Given the description of an element on the screen output the (x, y) to click on. 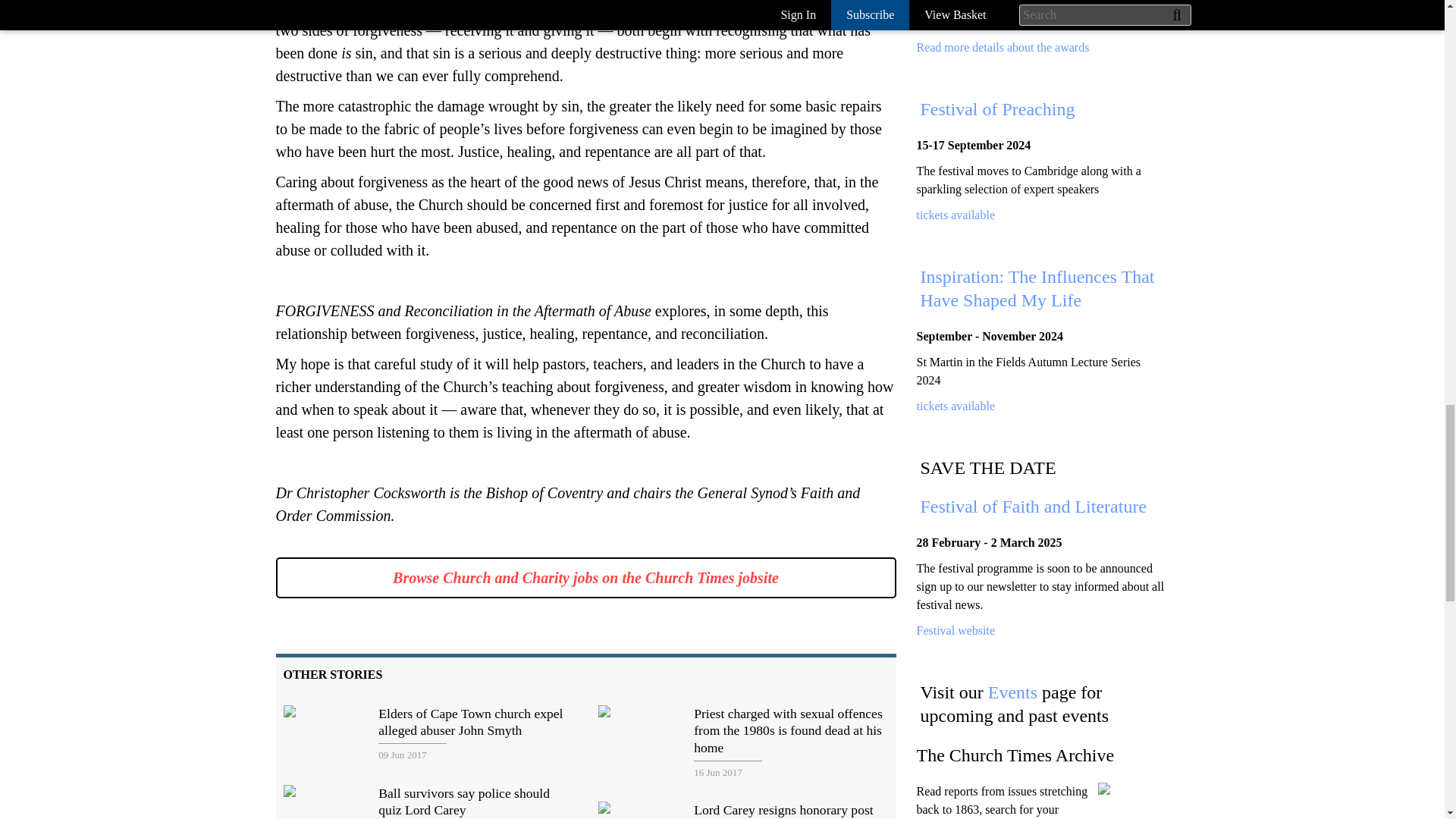
Inspiration: The Influences That Have Shaped My Life (1037, 288)
Inspiration: The Influences That Have Shaped My Life (954, 405)
